Given the description of an element on the screen output the (x, y) to click on. 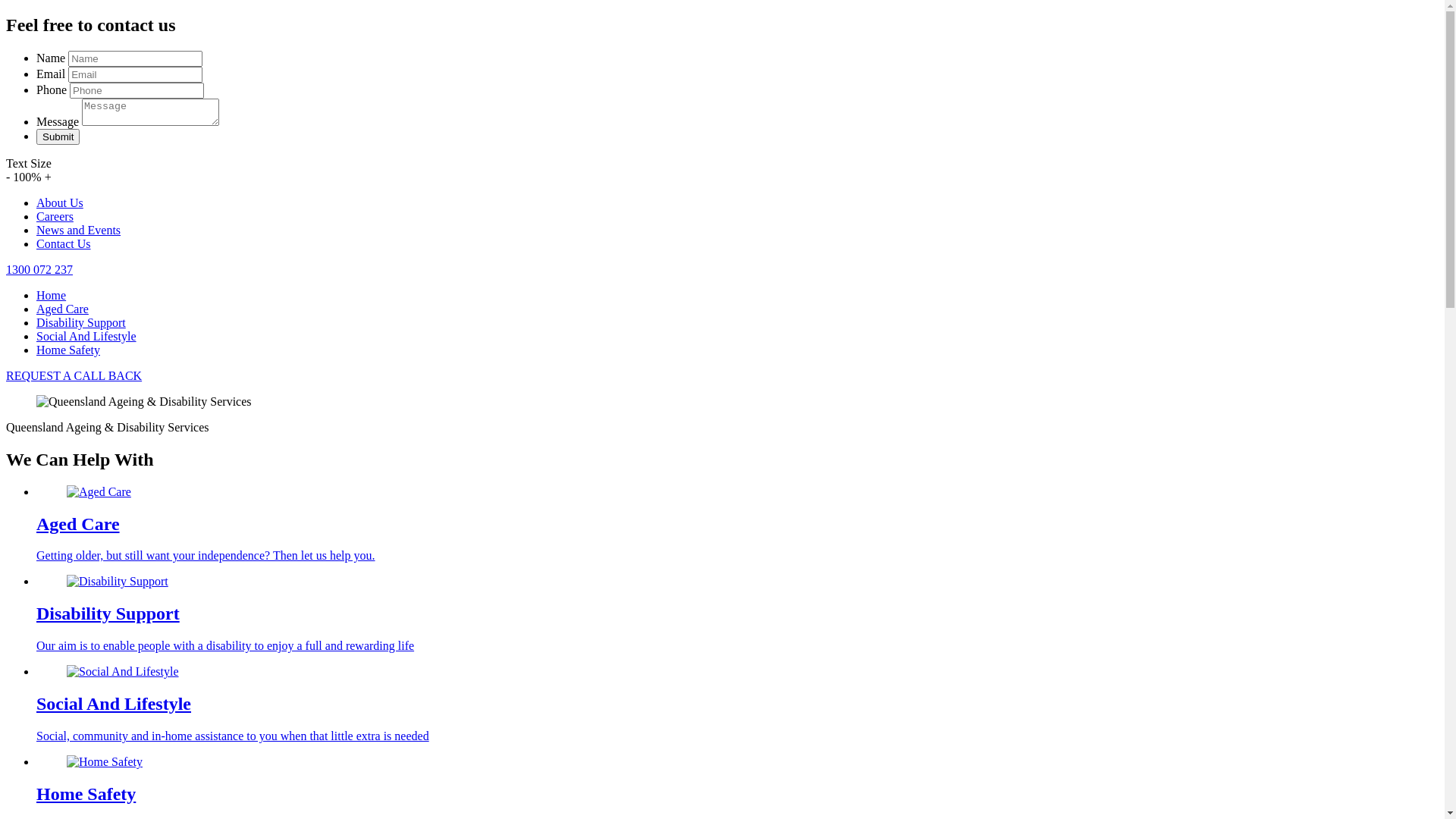
Submit Element type: text (57, 136)
Aged Care Element type: text (62, 308)
Social And Lifestyle Element type: text (86, 335)
1300 072 237 Element type: text (39, 269)
REQUEST A CALL BACK Element type: text (73, 375)
About Us Element type: text (59, 202)
Careers Element type: text (54, 216)
News and Events Element type: text (78, 229)
Home Element type: text (50, 294)
Home Safety Element type: text (68, 349)
Disability Support Element type: text (80, 322)
Contact Us Element type: text (63, 243)
